Given the description of an element on the screen output the (x, y) to click on. 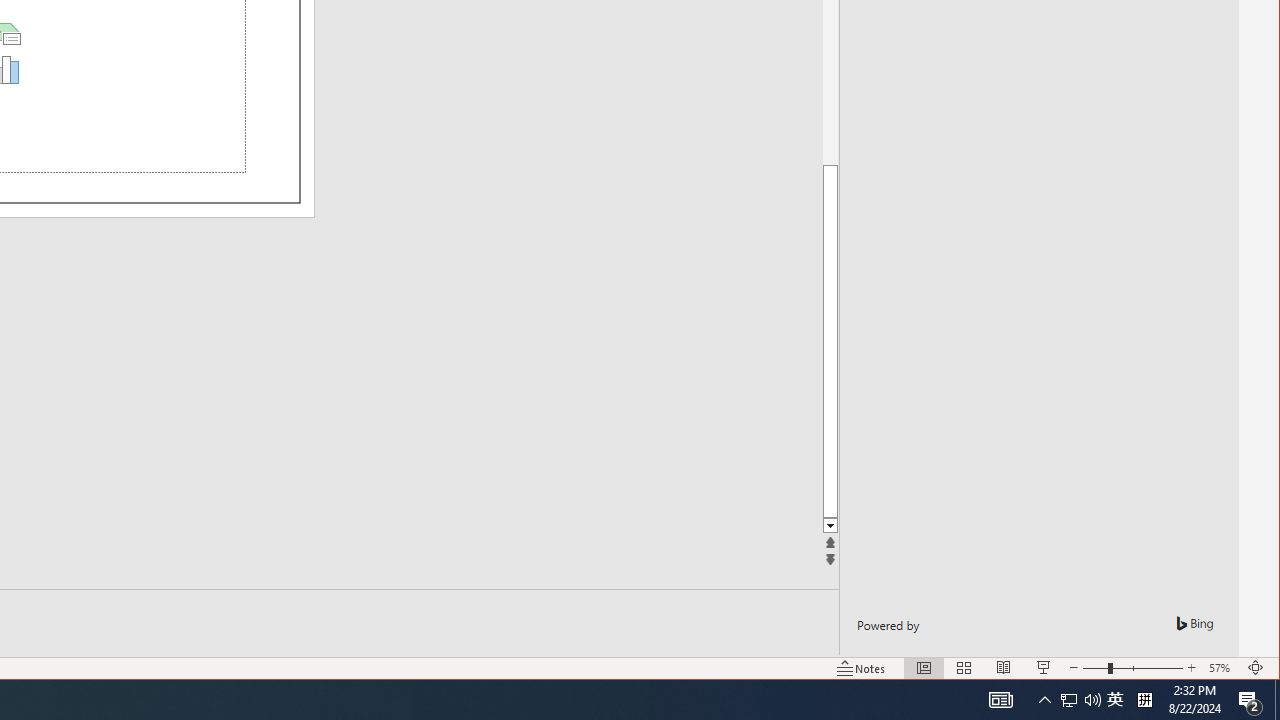
Zoom 57% (1222, 668)
